Given the description of an element on the screen output the (x, y) to click on. 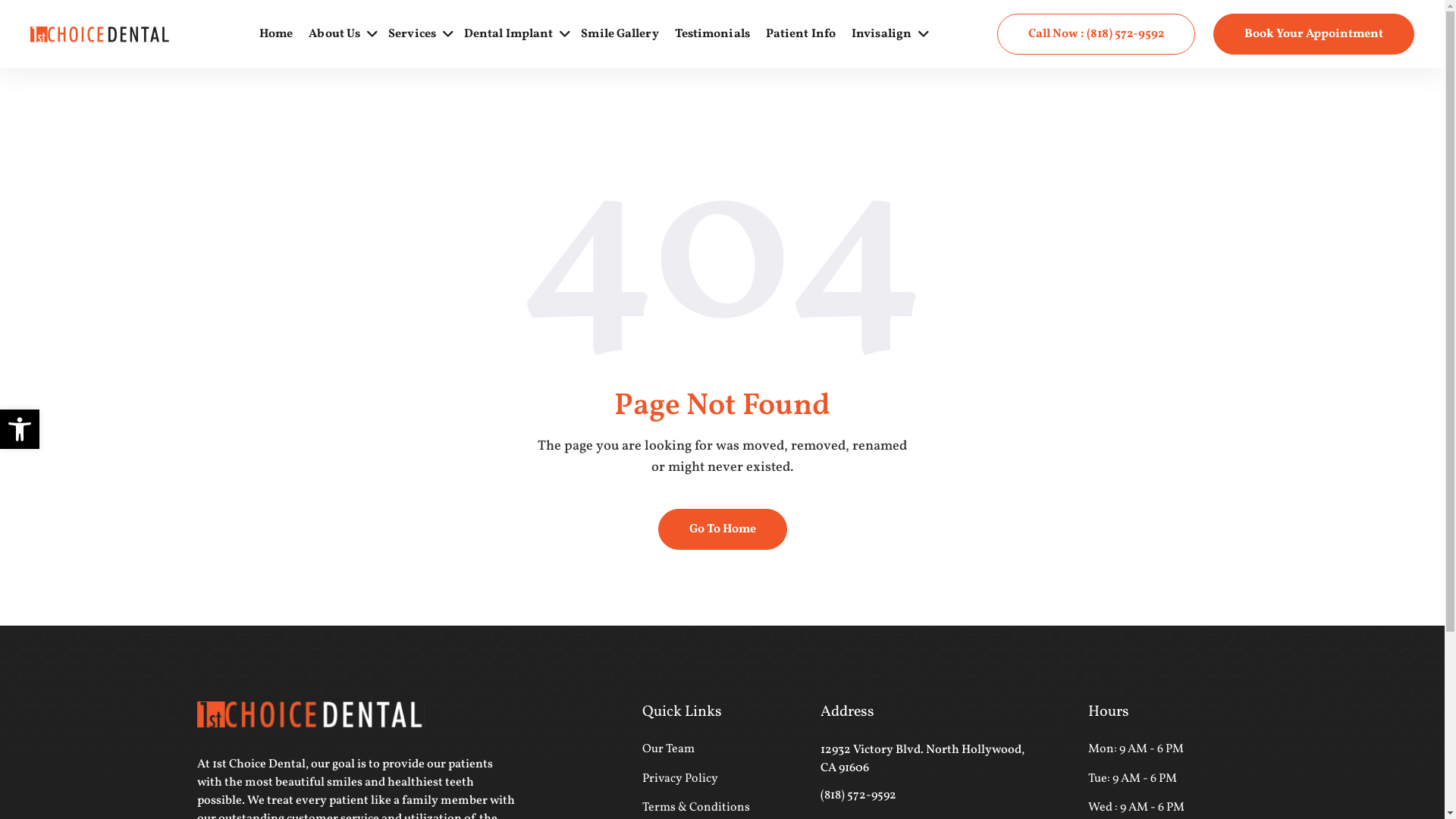
(818) 572-9592 Element type: text (858, 795)
Dental Implant Element type: text (508, 34)
Open toolbar
Accessibility Tools Element type: text (19, 428)
Invisalign Element type: text (881, 34)
Book Your Appointment Element type: text (1313, 33)
Services Element type: text (412, 34)
About Us Element type: text (334, 34)
Terms & Conditions Element type: text (695, 807)
Our Team Element type: text (668, 748)
Go To Home Element type: text (722, 528)
Testimonials Element type: text (712, 34)
Smile Gallery Element type: text (619, 34)
Patient Info Element type: text (800, 34)
Privacy Policy Element type: text (680, 778)
Home Element type: text (275, 34)
Call Now : (818) 572-9592 Element type: text (1096, 33)
